Given the description of an element on the screen output the (x, y) to click on. 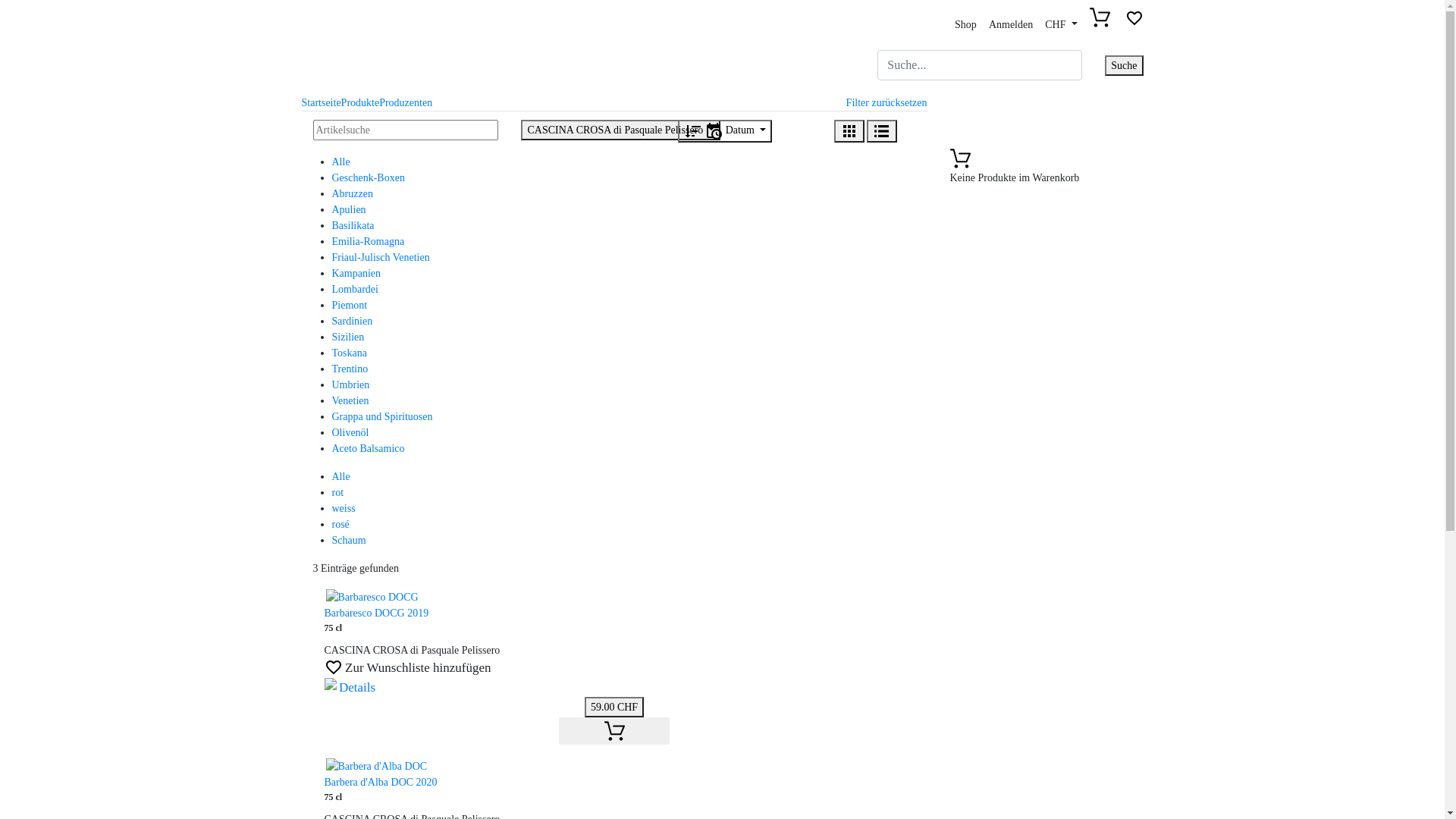
Kampanien Element type: text (356, 273)
Lombardei Element type: text (355, 288)
Produkte Element type: text (360, 102)
Toskana Element type: text (349, 352)
Barbaresco DOCG 2019 Element type: text (376, 612)
rot Element type: text (338, 492)
Abruzzen Element type: text (352, 193)
Alle Element type: text (341, 476)
Anmelden Element type: text (1010, 24)
59.00 CHF Element type: text (613, 706)
Emilia-Romagna Element type: text (368, 241)
Basilikata Element type: text (353, 225)
Venetien Element type: text (350, 400)
Friaul-Julisch Venetien Element type: text (380, 257)
Umbrien Element type: text (351, 384)
Piemont Element type: text (349, 304)
Apulien Element type: text (349, 209)
Warenkorb Element type: hover (1103, 23)
Barbera d'Alba DOC 2020 Element type: text (380, 781)
Produzenten Element type: text (405, 102)
weiss Element type: text (343, 508)
Sardinien Element type: text (352, 320)
CHF Element type: text (1060, 24)
Aceto Balsamico Element type: text (368, 448)
CASCINA CROSA di Pasquale Pelissero Element type: text (620, 129)
Details Element type: text (350, 687)
Geschenk-Boxen Element type: text (368, 177)
Alle Element type: text (341, 161)
Schaum Element type: text (349, 540)
Startseite Element type: text (321, 102)
Grappa und Spirituosen Element type: text (382, 416)
Trentino Element type: text (350, 368)
Suche Element type: text (1123, 64)
Wunschliste Element type: hover (1134, 22)
Sizilien Element type: text (348, 336)
Shop Element type: text (965, 24)
Datum Element type: text (724, 130)
